Given the description of an element on the screen output the (x, y) to click on. 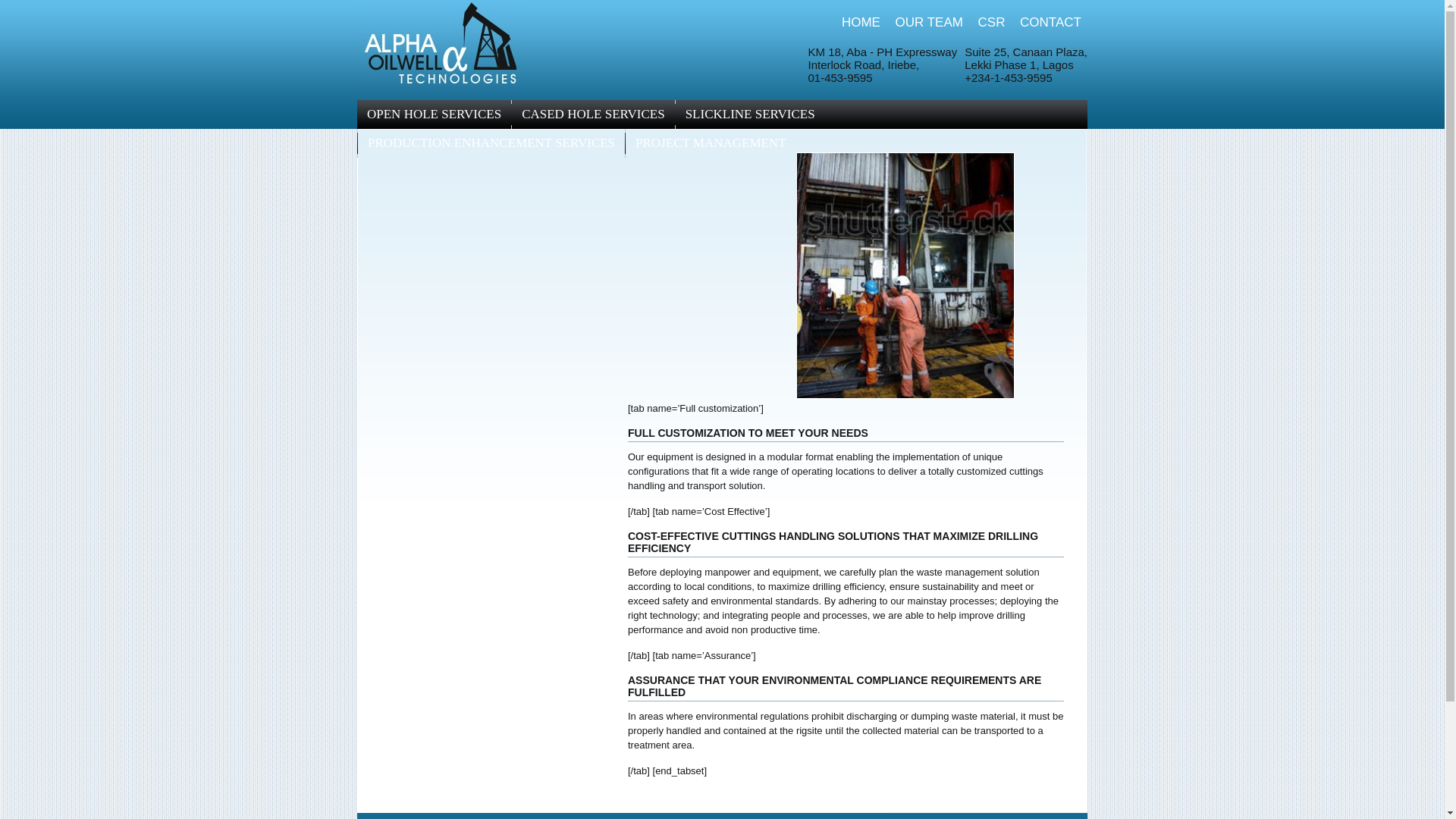
OPEN HOLE SERVICES (433, 113)
HOME (860, 22)
OUR TEAM (928, 22)
SLICKLINE SERVICES (750, 113)
CONTACT (1050, 22)
CSR (992, 22)
PRODUCTION ENHANCEMENT SERVICES (491, 143)
CASED HOLE SERVICES (593, 113)
PROJECT MANAGEMENT (711, 143)
